Given the description of an element on the screen output the (x, y) to click on. 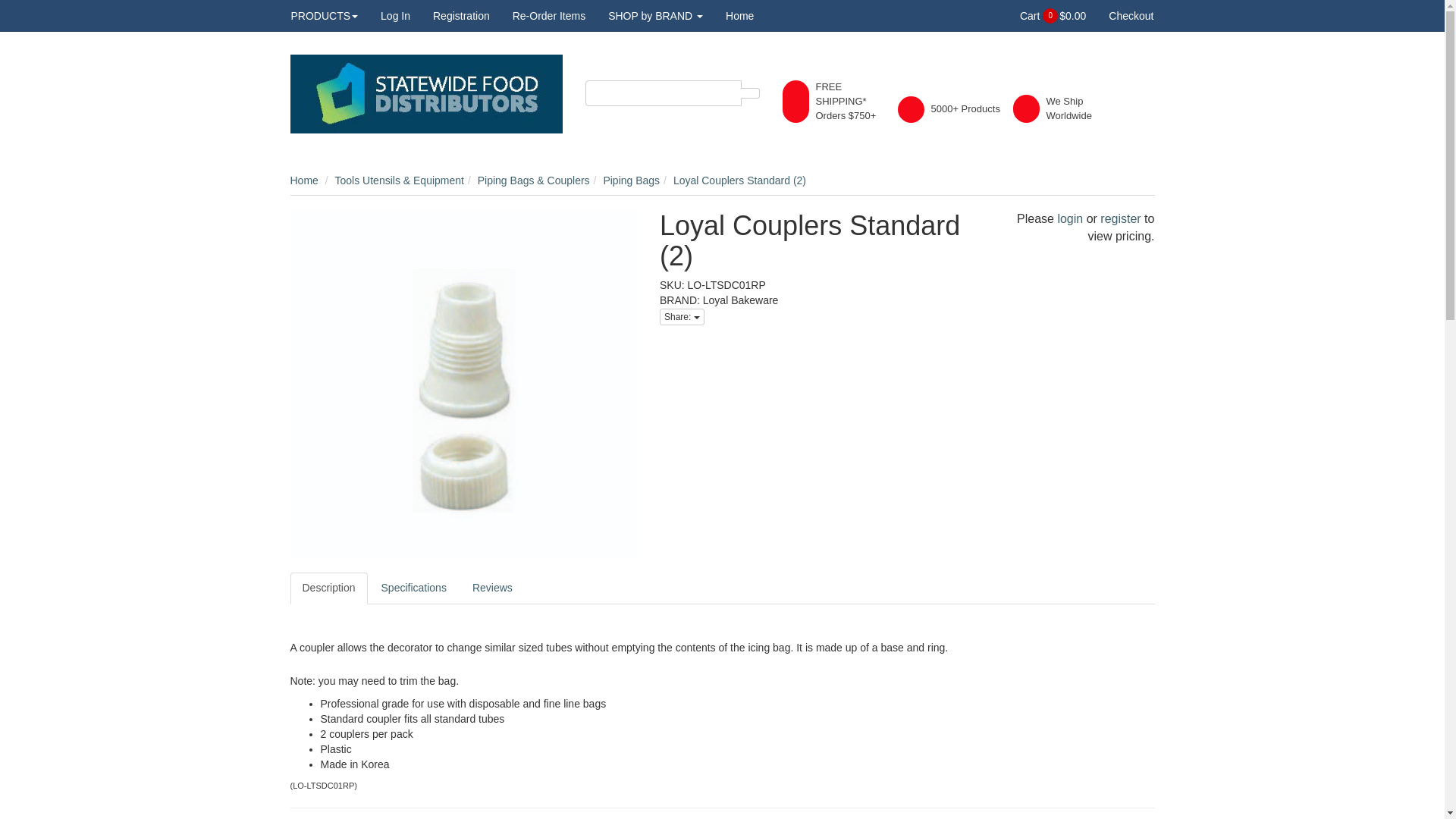
Statewide Food Distributors (425, 92)
PRODUCTS (330, 15)
